Given the description of an element on the screen output the (x, y) to click on. 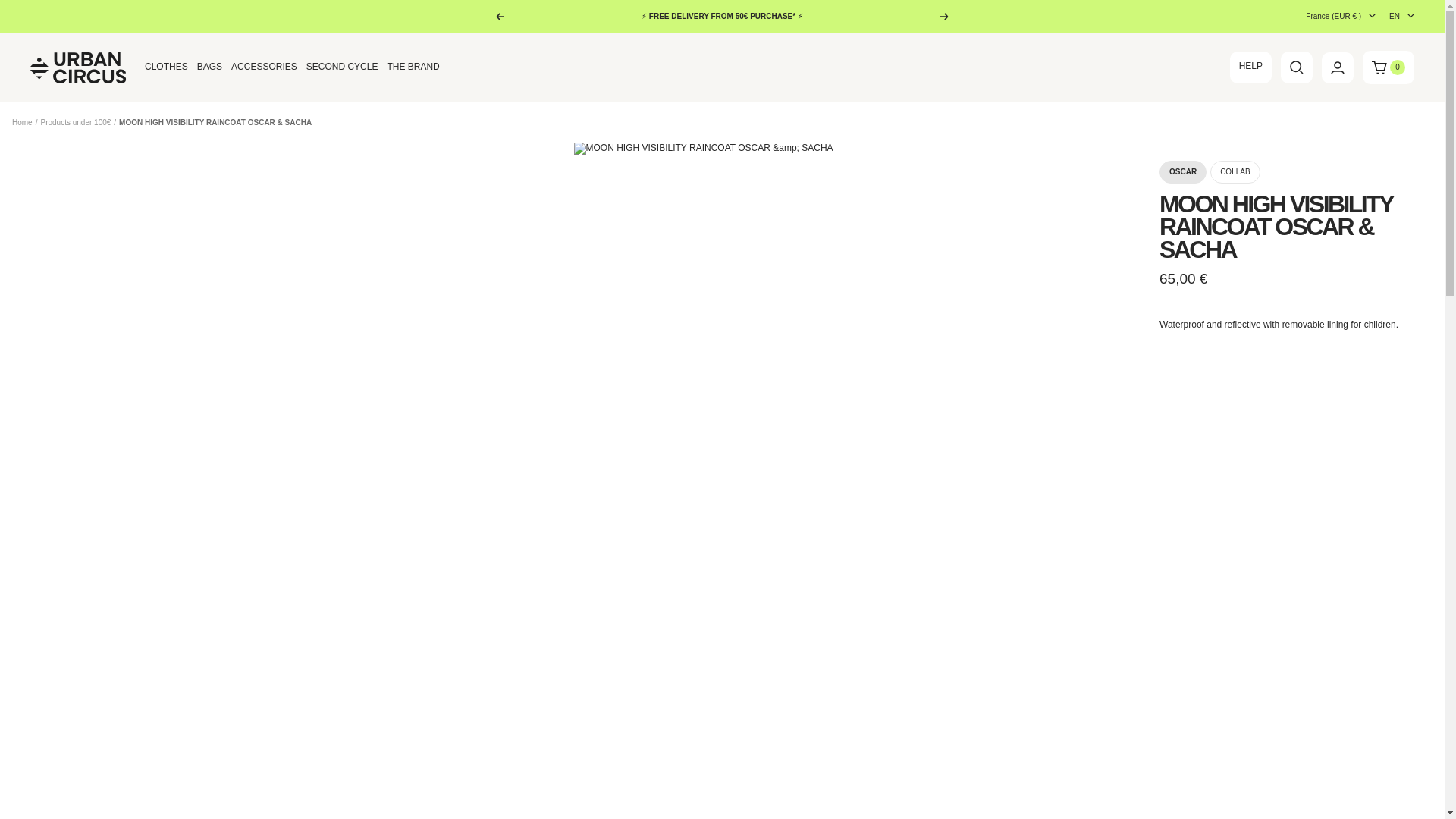
FR (1321, 111)
ACCESSORIES (264, 67)
LU (1321, 180)
IE (1321, 146)
Urban Circus (78, 66)
en (1393, 78)
ES (1321, 249)
HR (1321, 94)
CLOTHES (165, 67)
CH (1321, 265)
